Given the description of an element on the screen output the (x, y) to click on. 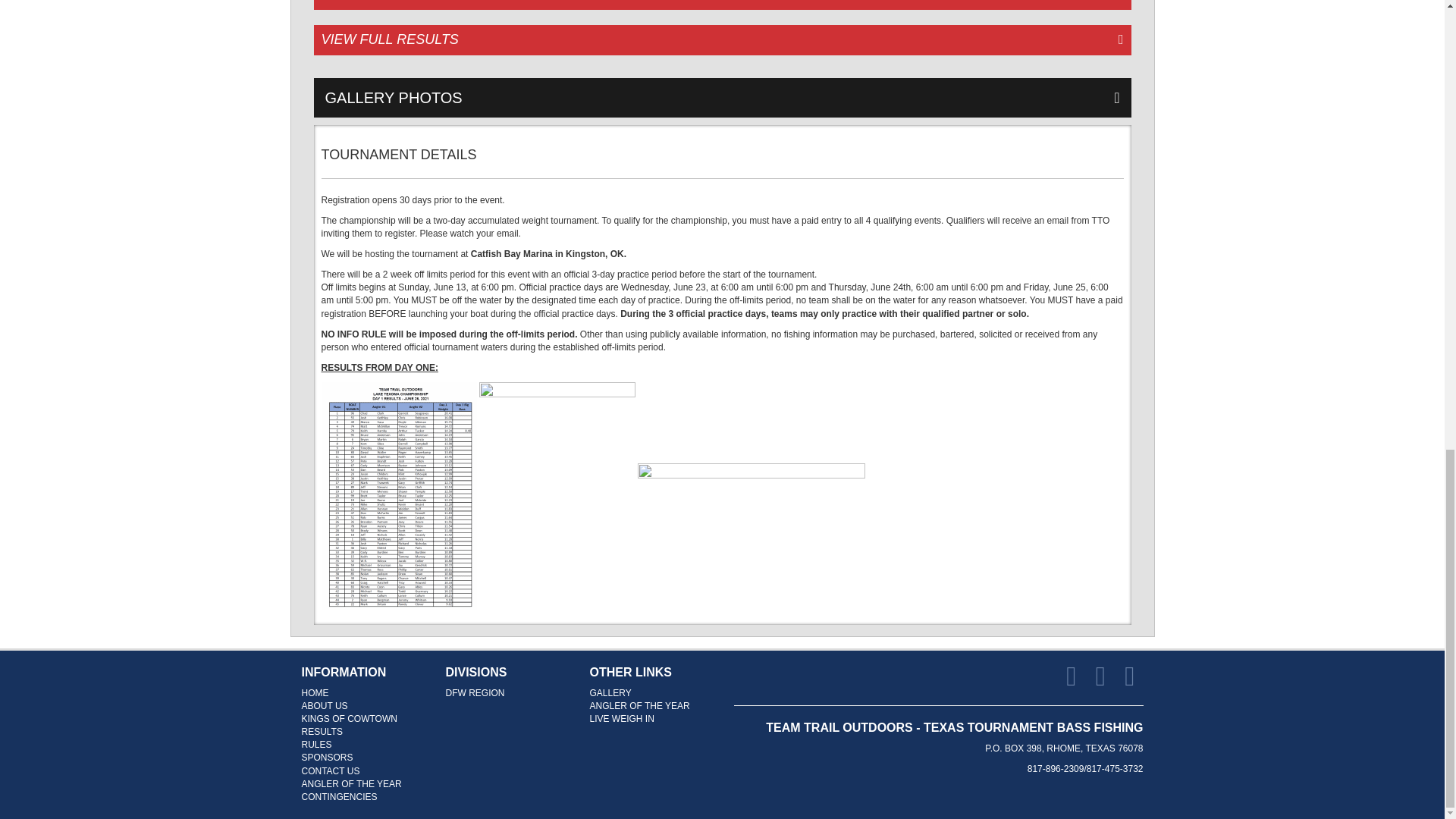
CONTACT US (330, 770)
VIEW DAY 1 RESULTS (722, 4)
KINGS OF COWTOWN (349, 718)
CONTINGENCIES (339, 796)
VIEW FULL RESULTS (722, 40)
ANGLER OF THE YEAR (351, 783)
ANGLER OF THE YEAR (639, 706)
RESULTS (321, 731)
ABOUT US (324, 706)
SPONSORS (327, 757)
